Given the description of an element on the screen output the (x, y) to click on. 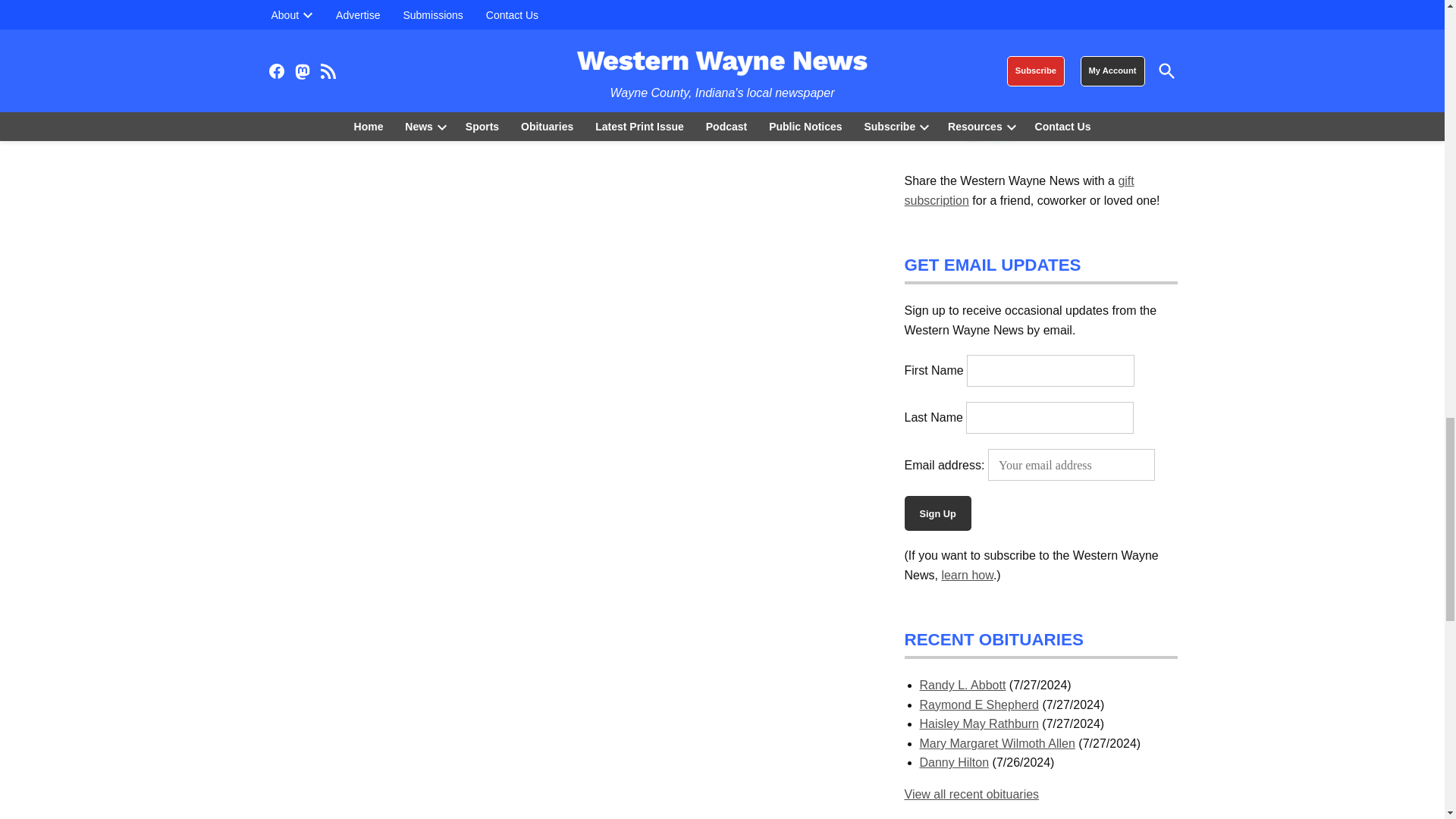
Sign Up (937, 513)
